Given the description of an element on the screen output the (x, y) to click on. 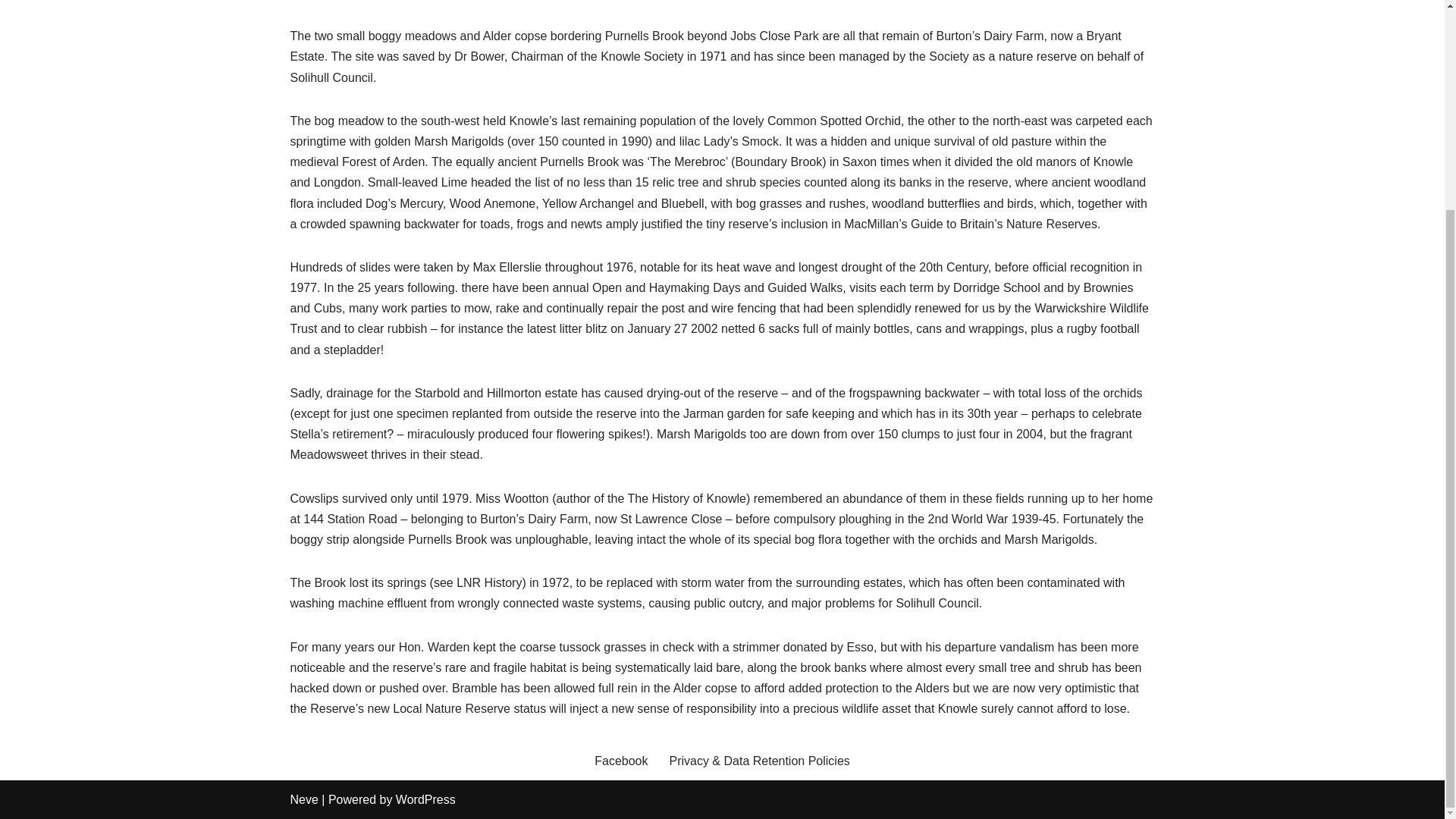
WordPress (425, 799)
Facebook (620, 761)
Neve (303, 799)
